Given the description of an element on the screen output the (x, y) to click on. 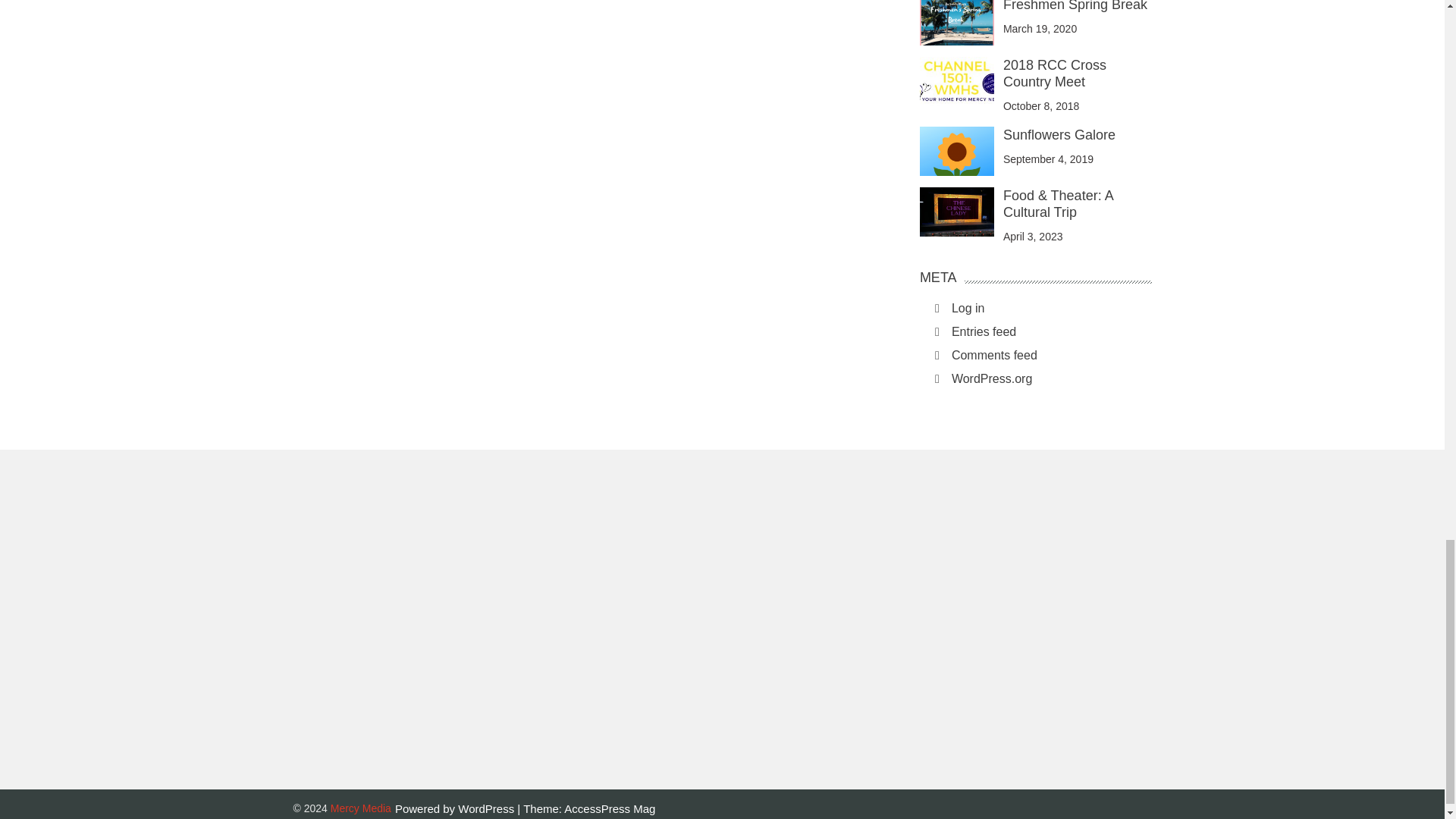
AccessPress Themes (609, 808)
